Given the description of an element on the screen output the (x, y) to click on. 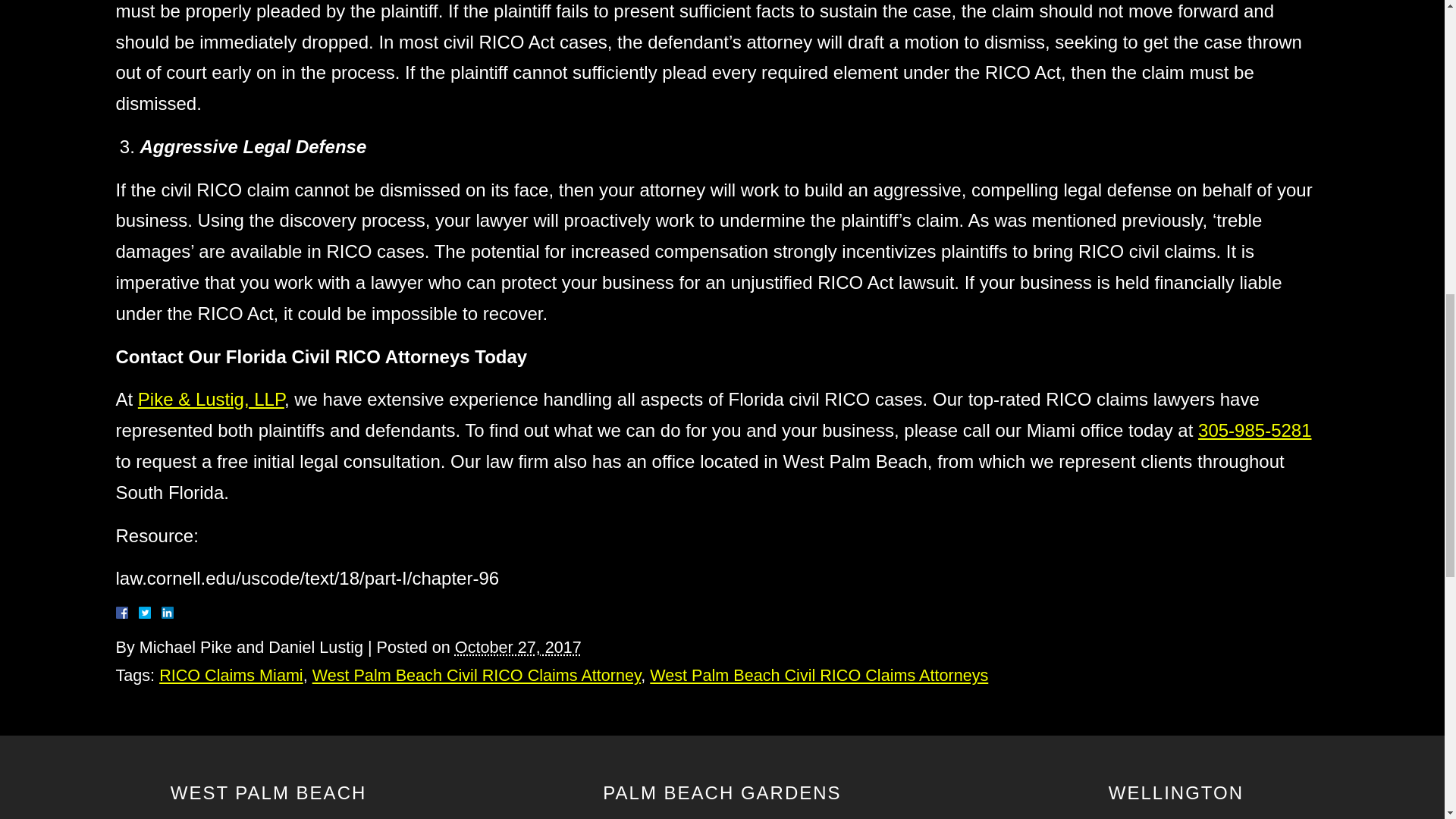
2017-10-27T06:09:12-0700 (517, 647)
Facebook (139, 612)
LinkedIn (160, 612)
Twitter (149, 612)
